Given the description of an element on the screen output the (x, y) to click on. 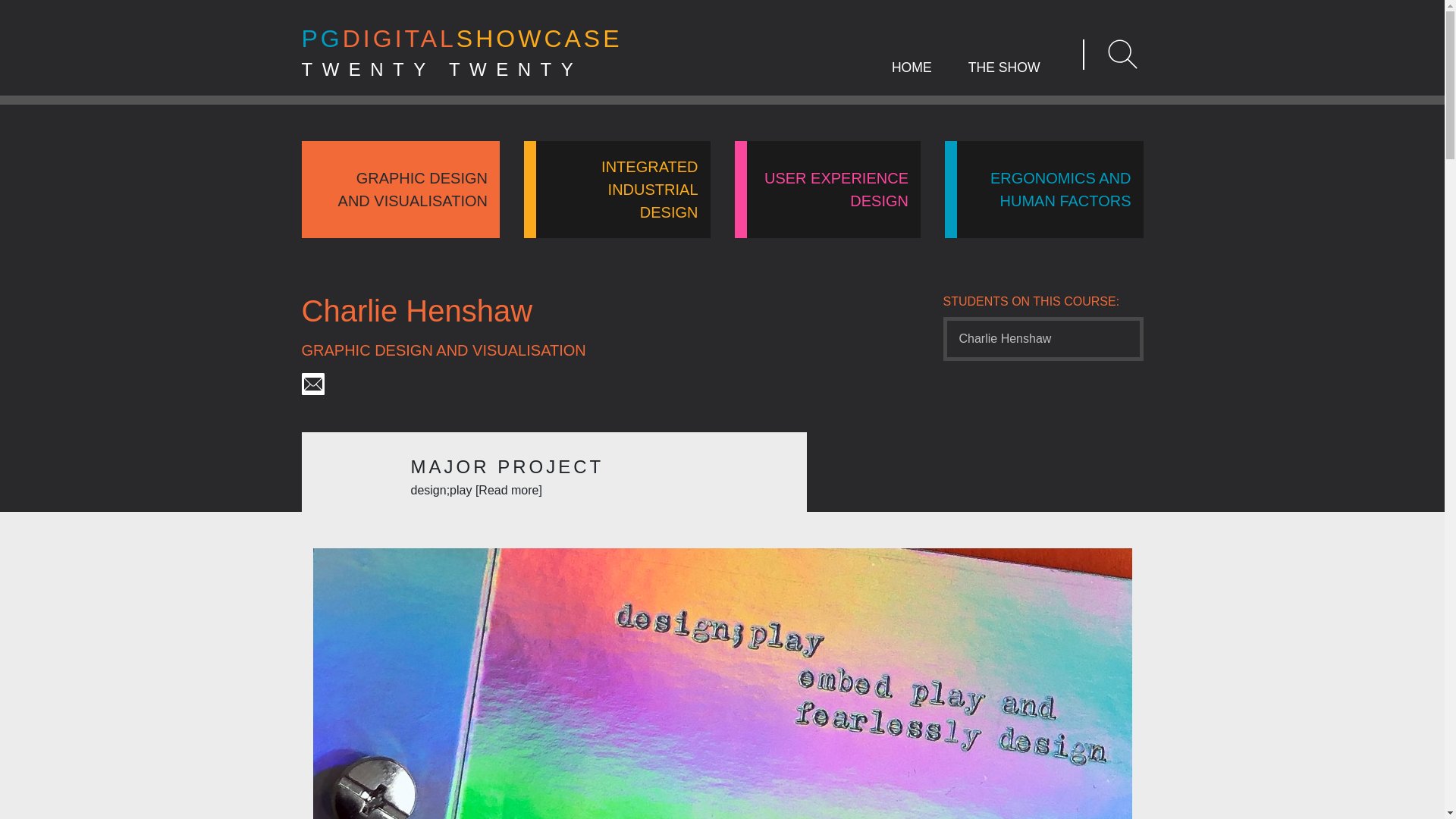
INTEGRATED INDUSTRIAL DESIGN (617, 189)
HOME (911, 77)
ERGONOMICS AND HUMAN FACTORS (1043, 189)
GRAPHIC DESIGN AND VISUALISATION (462, 55)
Home (400, 189)
THE SHOW (911, 77)
USER EXPERIENCE DESIGN (1004, 77)
The Show (826, 189)
Charlie Henshaw's Email Address (1004, 77)
